Given the description of an element on the screen output the (x, y) to click on. 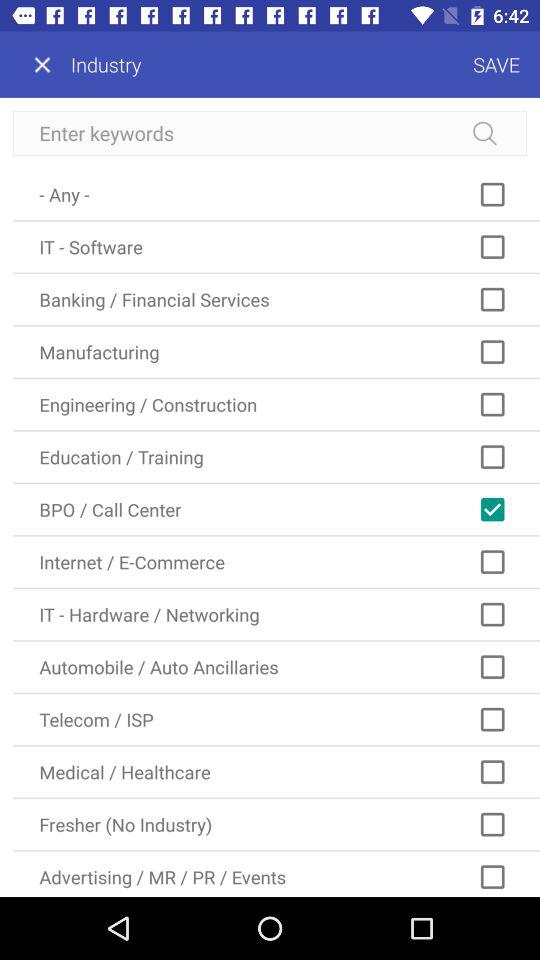
turn off engineering / construction (276, 404)
